Given the description of an element on the screen output the (x, y) to click on. 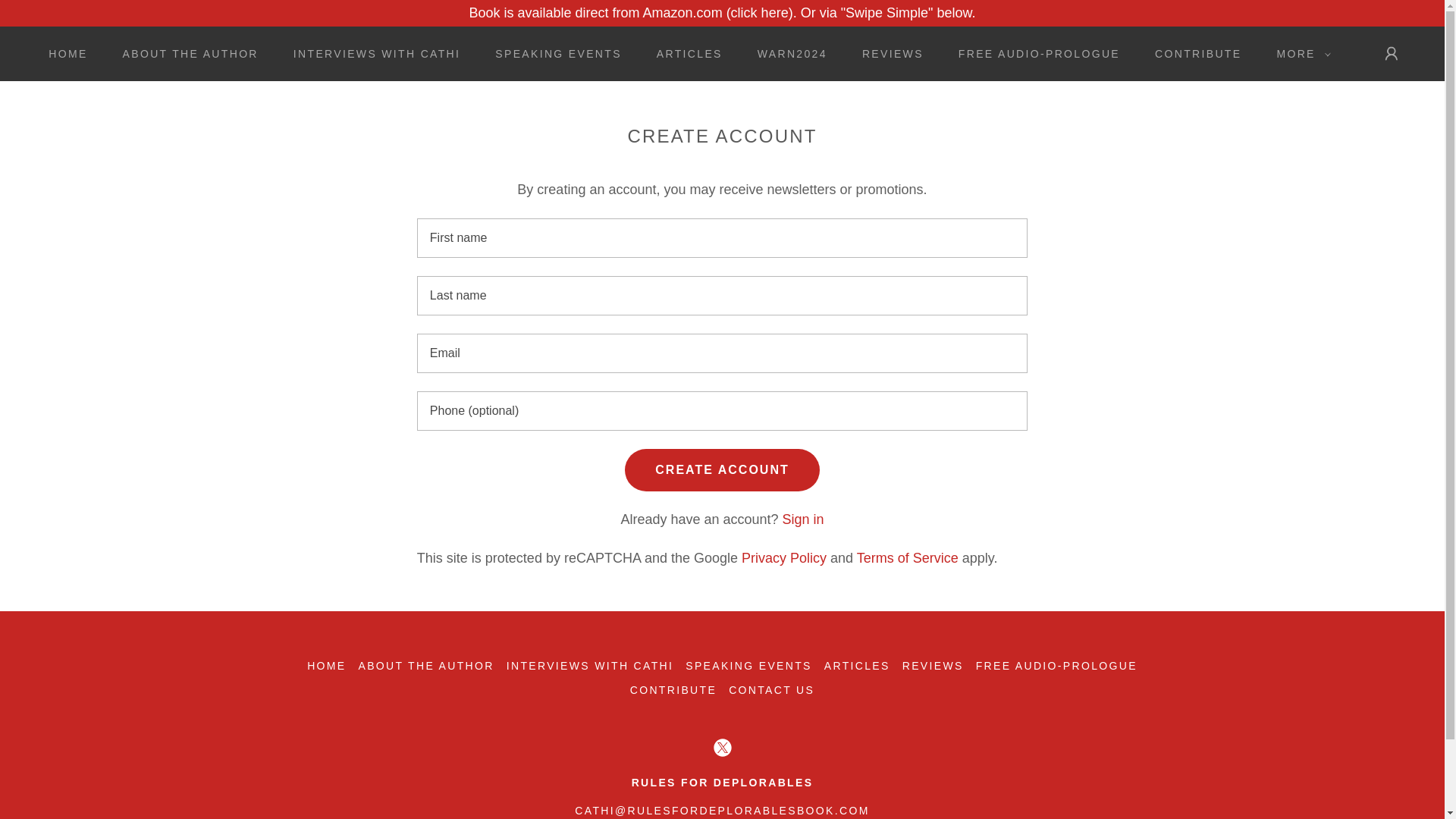
CONTRIBUTE (1193, 53)
ABOUT THE AUTHOR (185, 53)
MORE (1299, 54)
SPEAKING EVENTS (553, 53)
FREE AUDIO-PROLOGUE (1033, 53)
ARTICLES (684, 53)
HOME (62, 53)
INTERVIEWS WITH CATHI (371, 53)
WARN2024 (786, 53)
REVIEWS (887, 53)
